Given the description of an element on the screen output the (x, y) to click on. 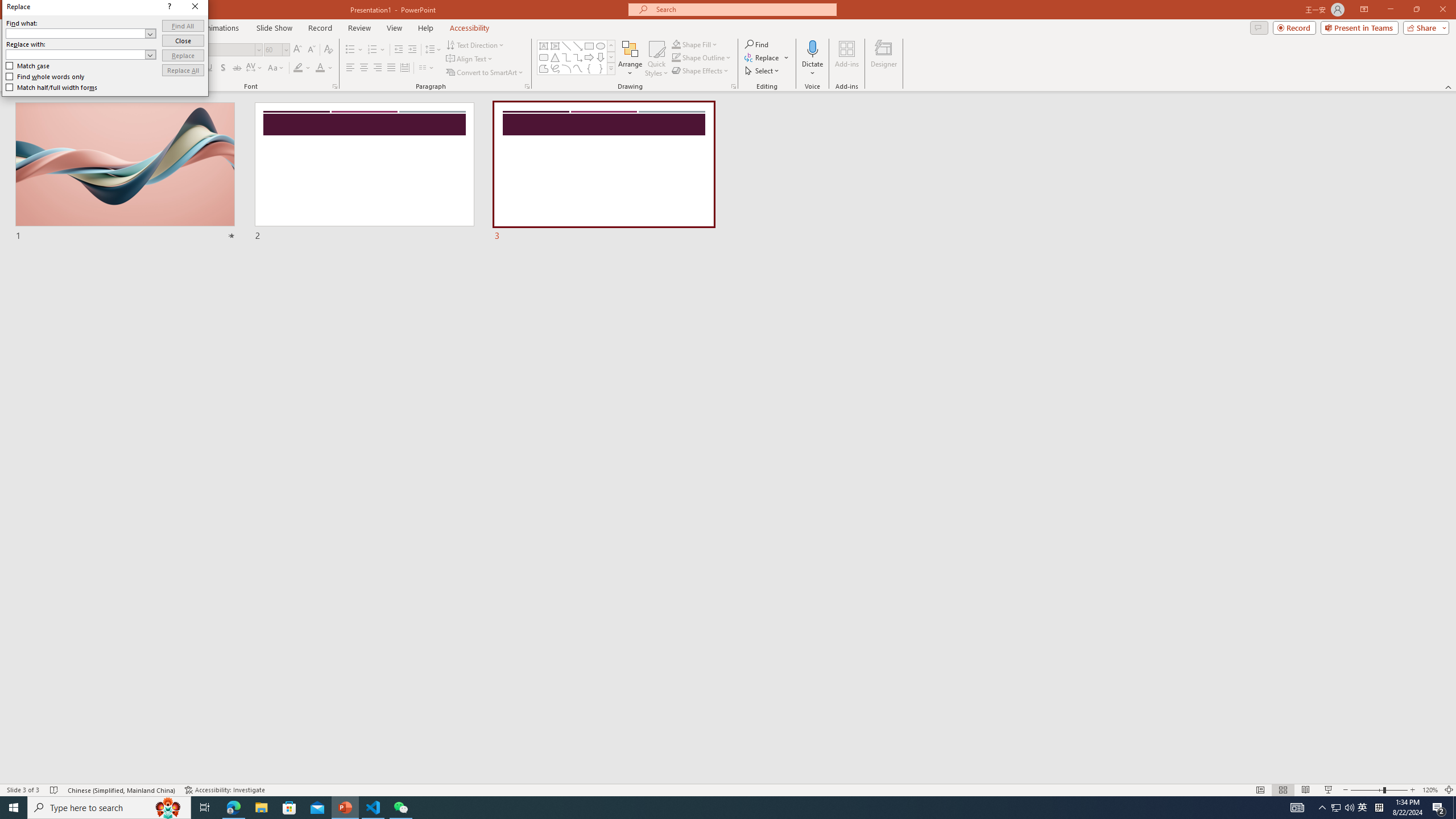
Strikethrough (237, 67)
Quick Styles (656, 58)
Arrow: Right (589, 57)
Freeform: Shape (543, 68)
Center (363, 67)
Line (566, 45)
Increase Font Size (297, 49)
Right Brace (600, 68)
